Given the description of an element on the screen output the (x, y) to click on. 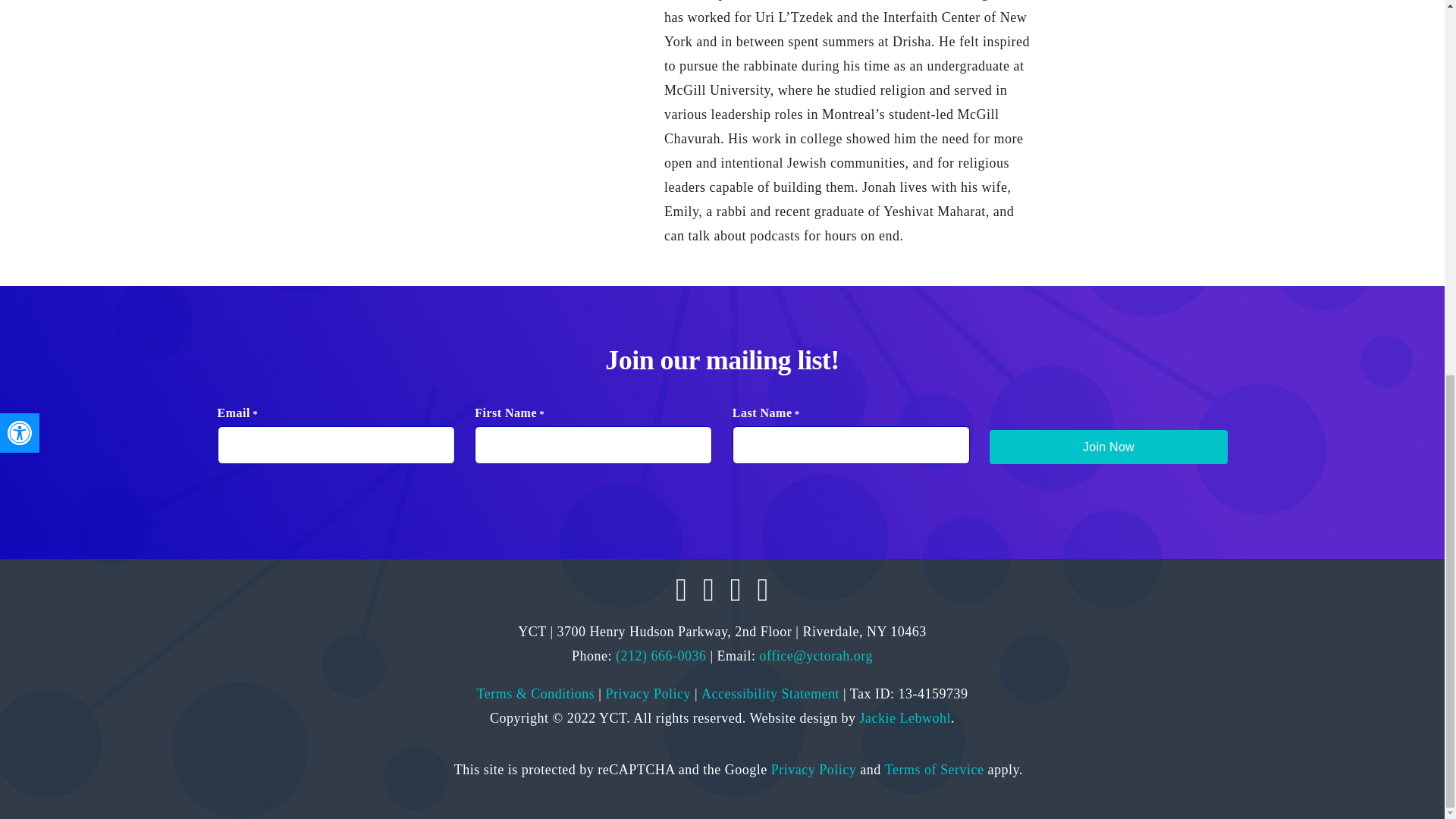
Join Now (1108, 446)
